Given the description of an element on the screen output the (x, y) to click on. 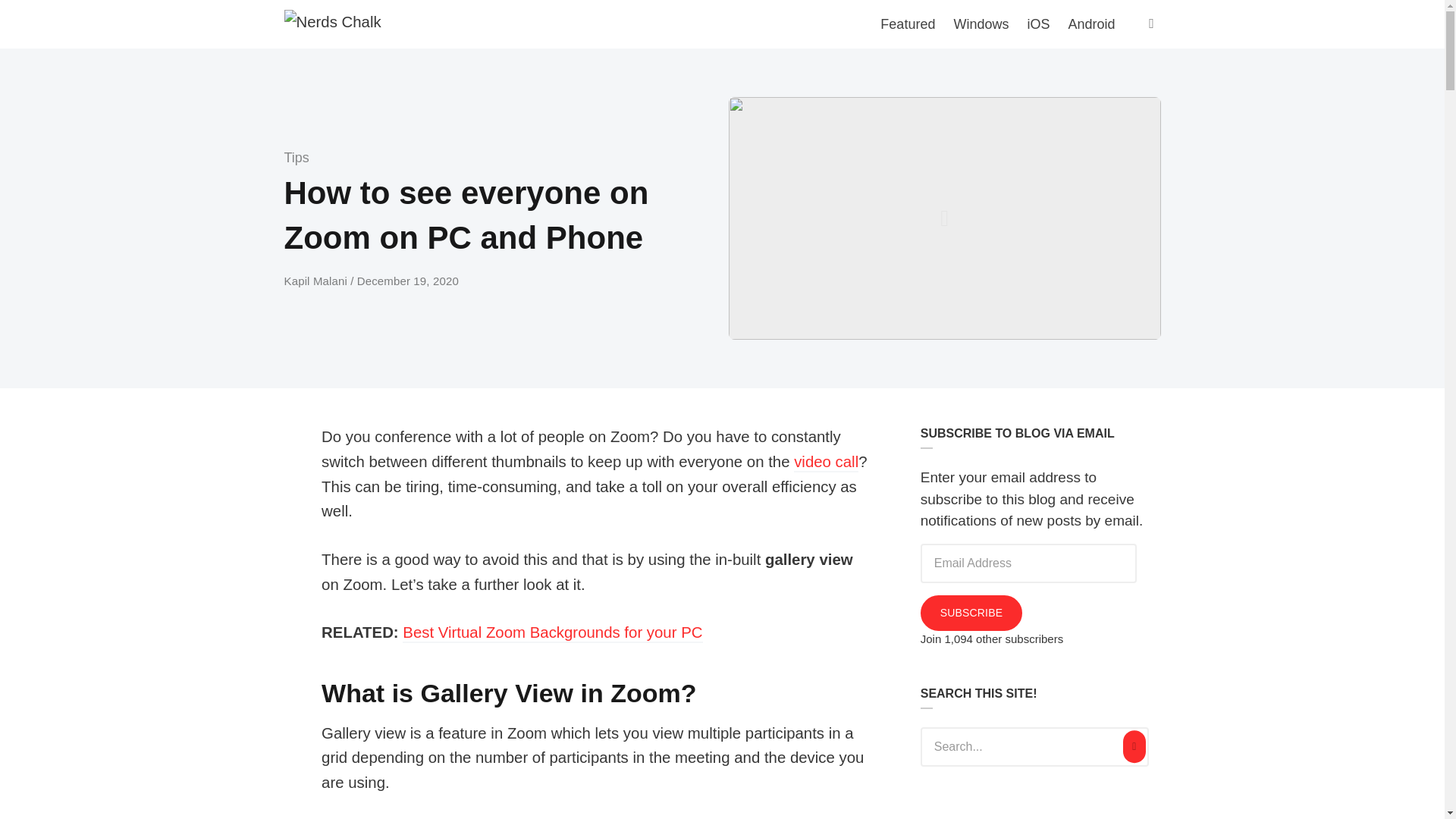
Tips (295, 157)
Featured (906, 24)
Windows (980, 24)
SUBSCRIBE (971, 613)
Kapil Malani (316, 280)
Android (1091, 24)
Best Virtual Zoom Backgrounds for your PC (552, 633)
video call (826, 462)
